Given the description of an element on the screen output the (x, y) to click on. 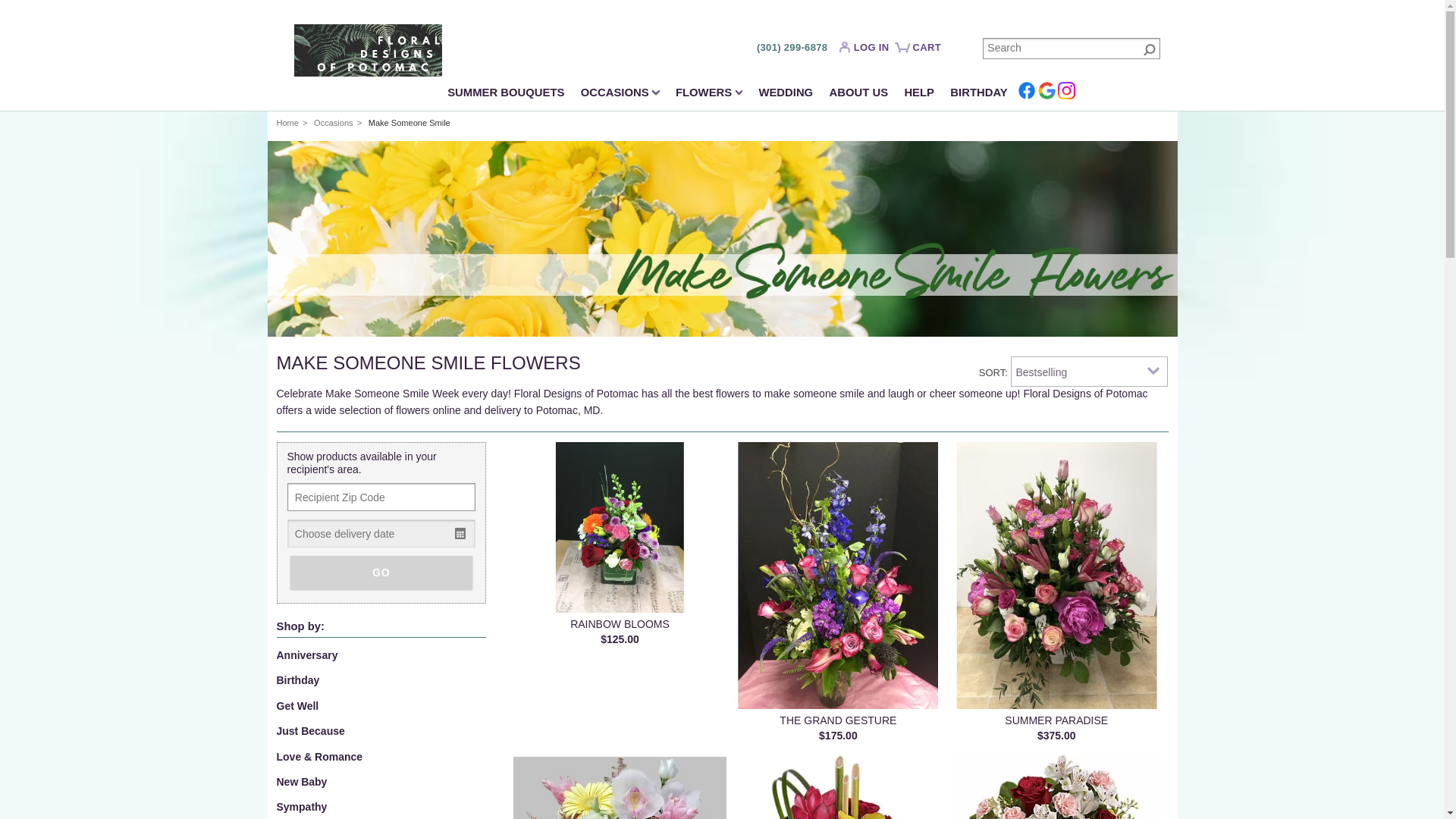
GO (380, 572)
WEDDING (785, 94)
Go (1149, 48)
log In (867, 49)
CART (919, 53)
Sort By (1088, 371)
Search (1071, 47)
LOG IN (867, 49)
FLOWERS (708, 94)
OCCASIONS (620, 94)
SUMMER BOUQUETS (506, 94)
